Given the description of an element on the screen output the (x, y) to click on. 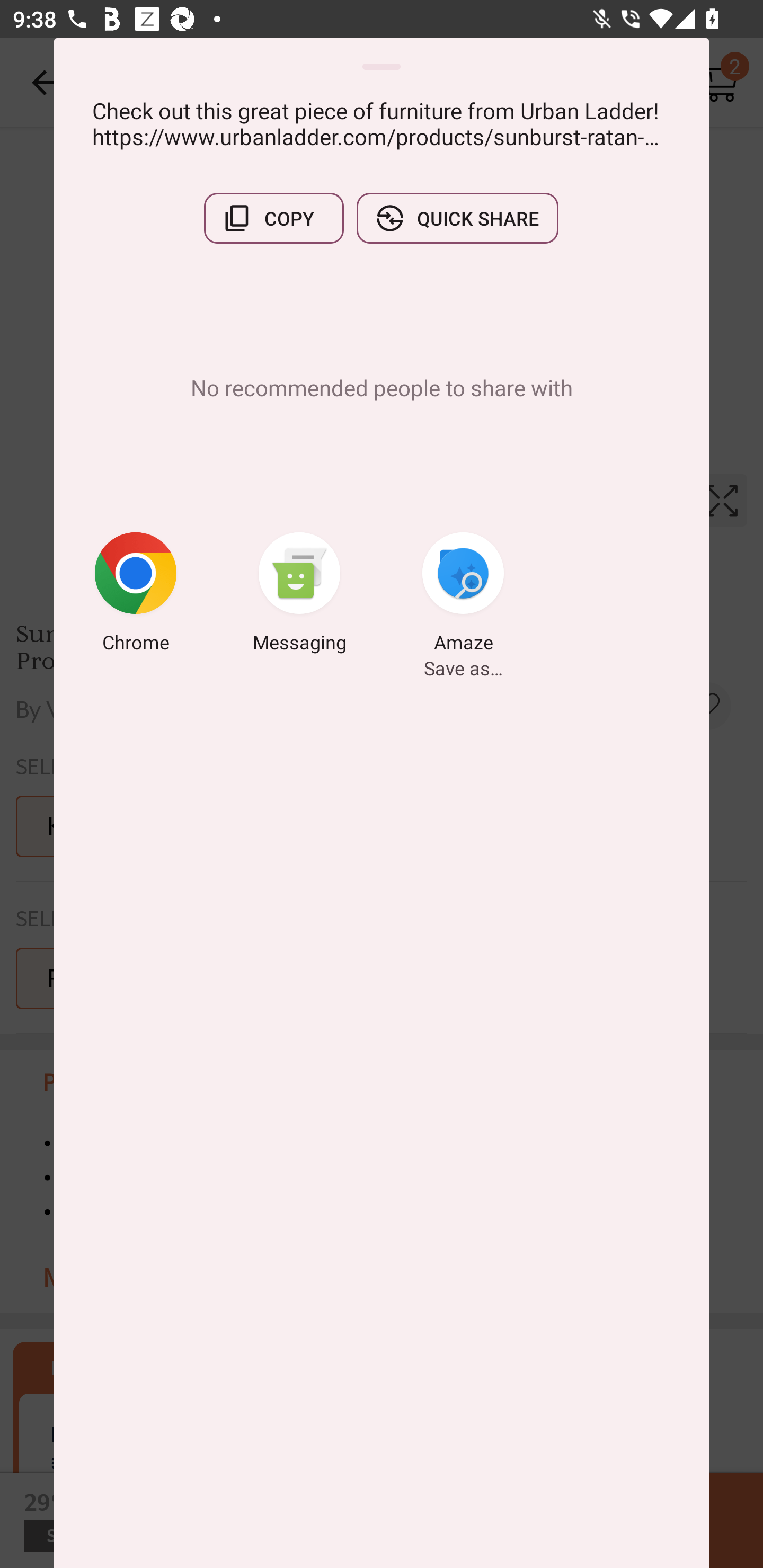
COPY (273, 218)
QUICK SHARE (457, 218)
Chrome (135, 594)
Messaging (299, 594)
Amaze Save as… (463, 594)
